Given the description of an element on the screen output the (x, y) to click on. 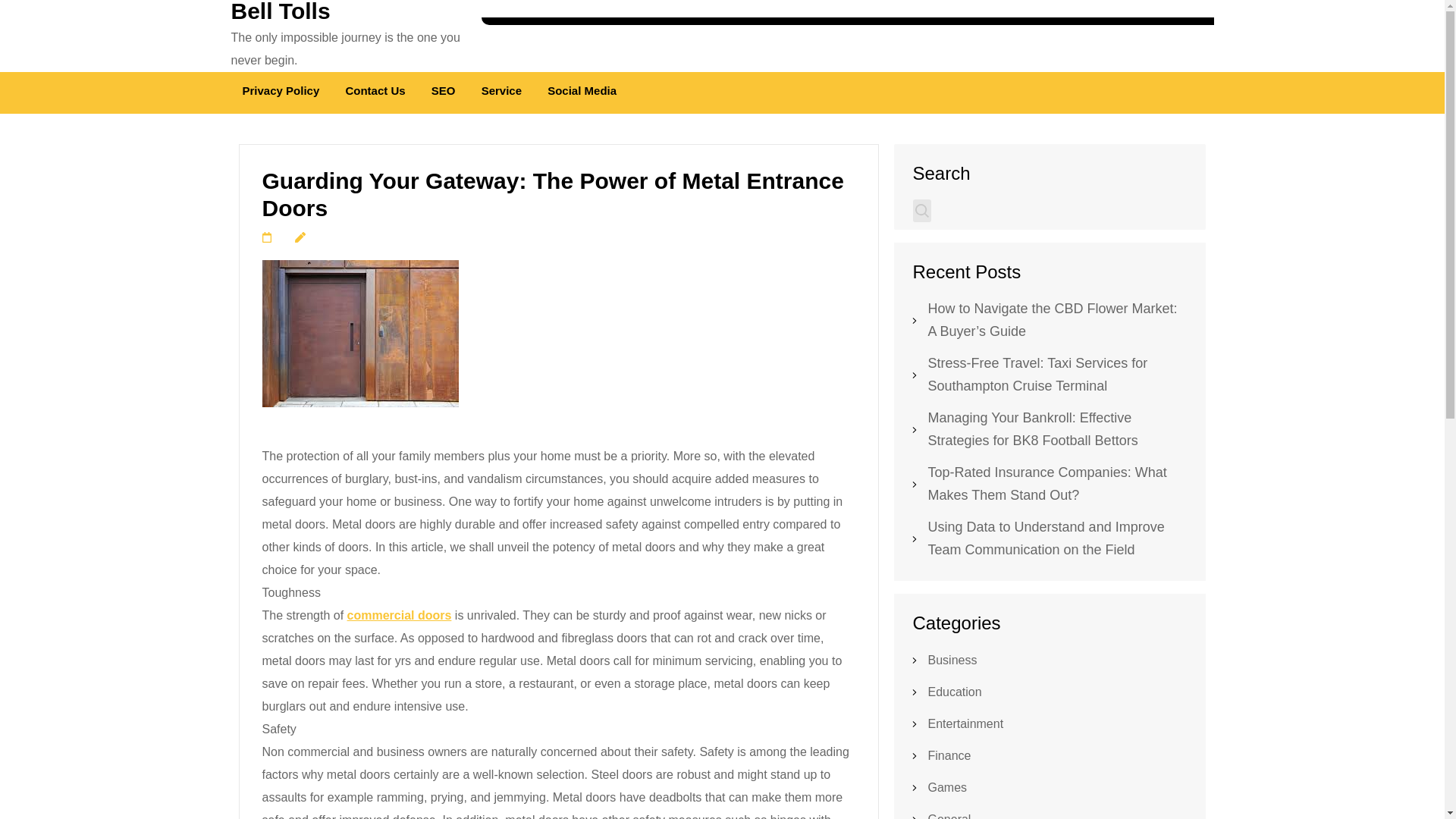
Contact Us (374, 92)
General (949, 816)
Business (952, 659)
Bell Tolls (280, 11)
Education (954, 691)
Privacy Policy (281, 92)
Top-Rated Insurance Companies: What Makes Them Stand Out? (1047, 483)
Service (501, 92)
SEO (442, 92)
Social Media (581, 92)
commercial doors (399, 615)
Finance (949, 755)
